Given the description of an element on the screen output the (x, y) to click on. 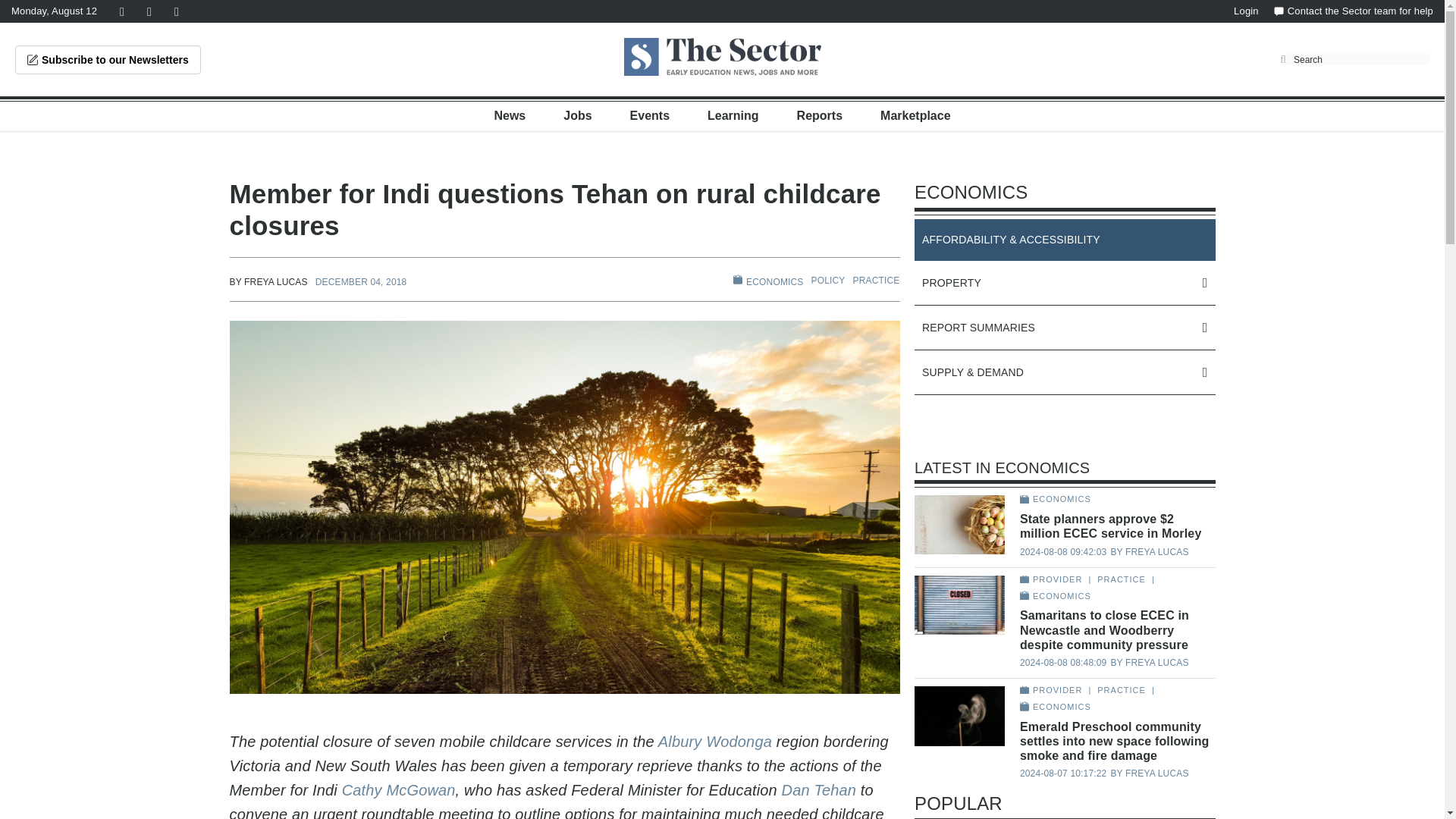
Dan Tehan (819, 790)
FILL 1 COPY 8 CREATED WITH SKETCH. ECONOMICS (768, 280)
News (509, 115)
PRACTICE (876, 280)
Subscribe to our Newsletters (107, 59)
Learning (732, 115)
Login (1246, 11)
Cathy McGowan (398, 790)
Albury Wodonga (714, 741)
Reports (819, 115)
